Given the description of an element on the screen output the (x, y) to click on. 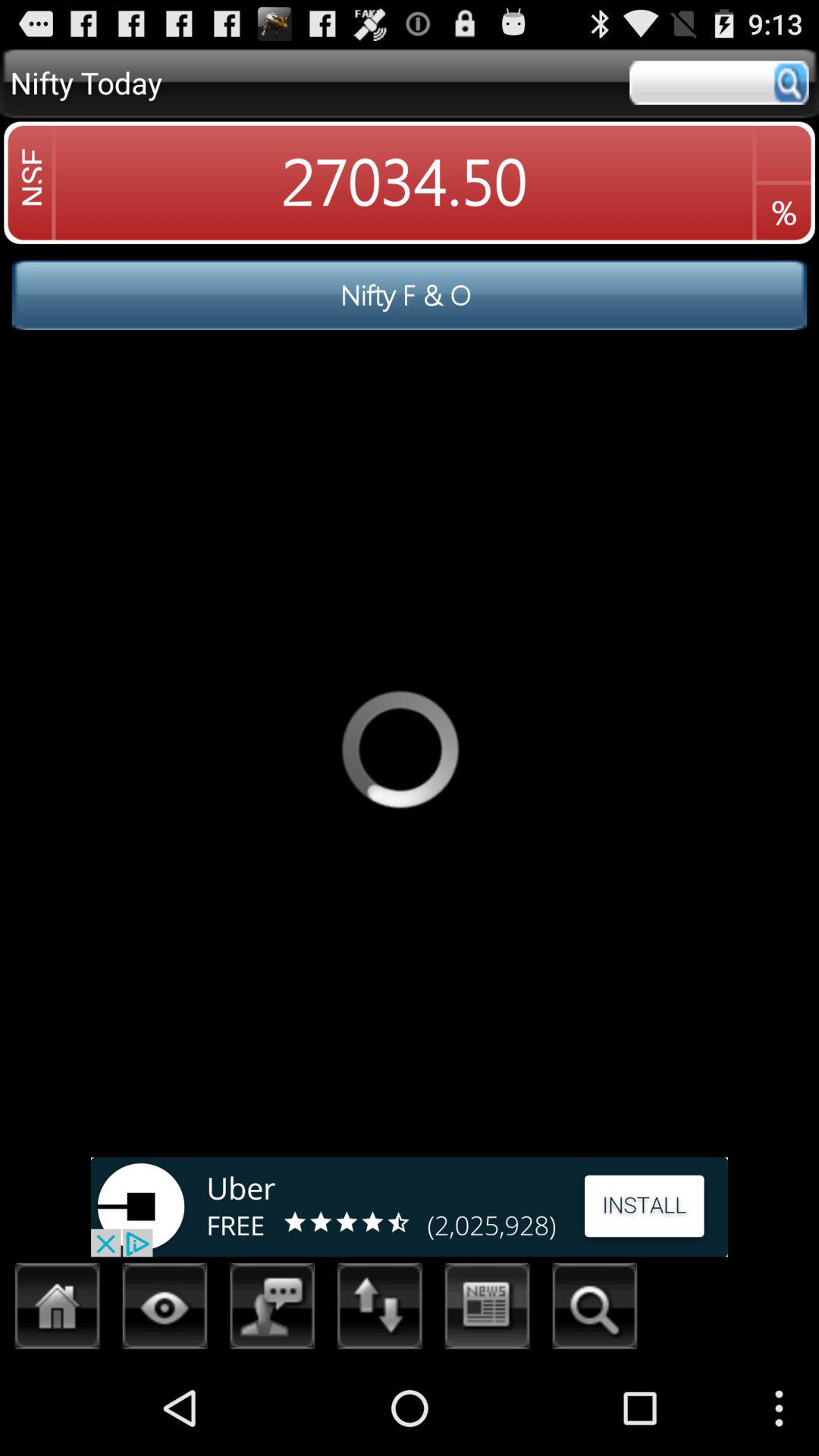
go home (57, 1310)
